Given the description of an element on the screen output the (x, y) to click on. 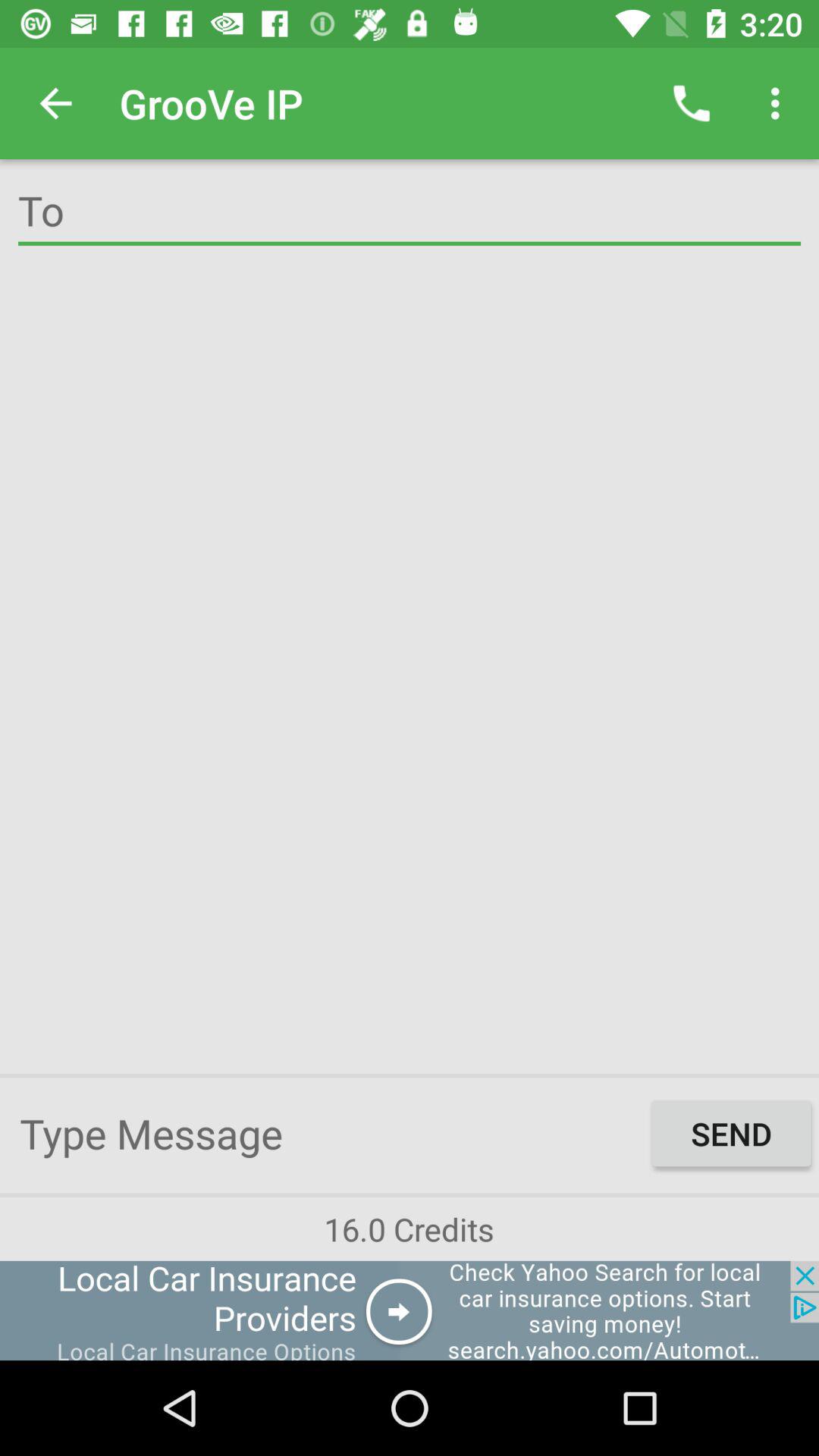
connect to advertisement (409, 1310)
